Given the description of an element on the screen output the (x, y) to click on. 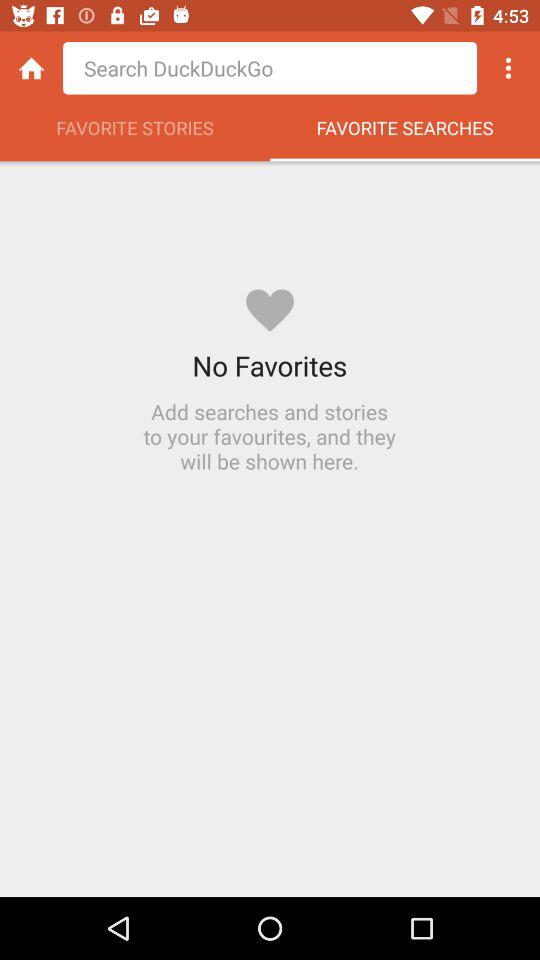
shows search area (270, 68)
